Given the description of an element on the screen output the (x, y) to click on. 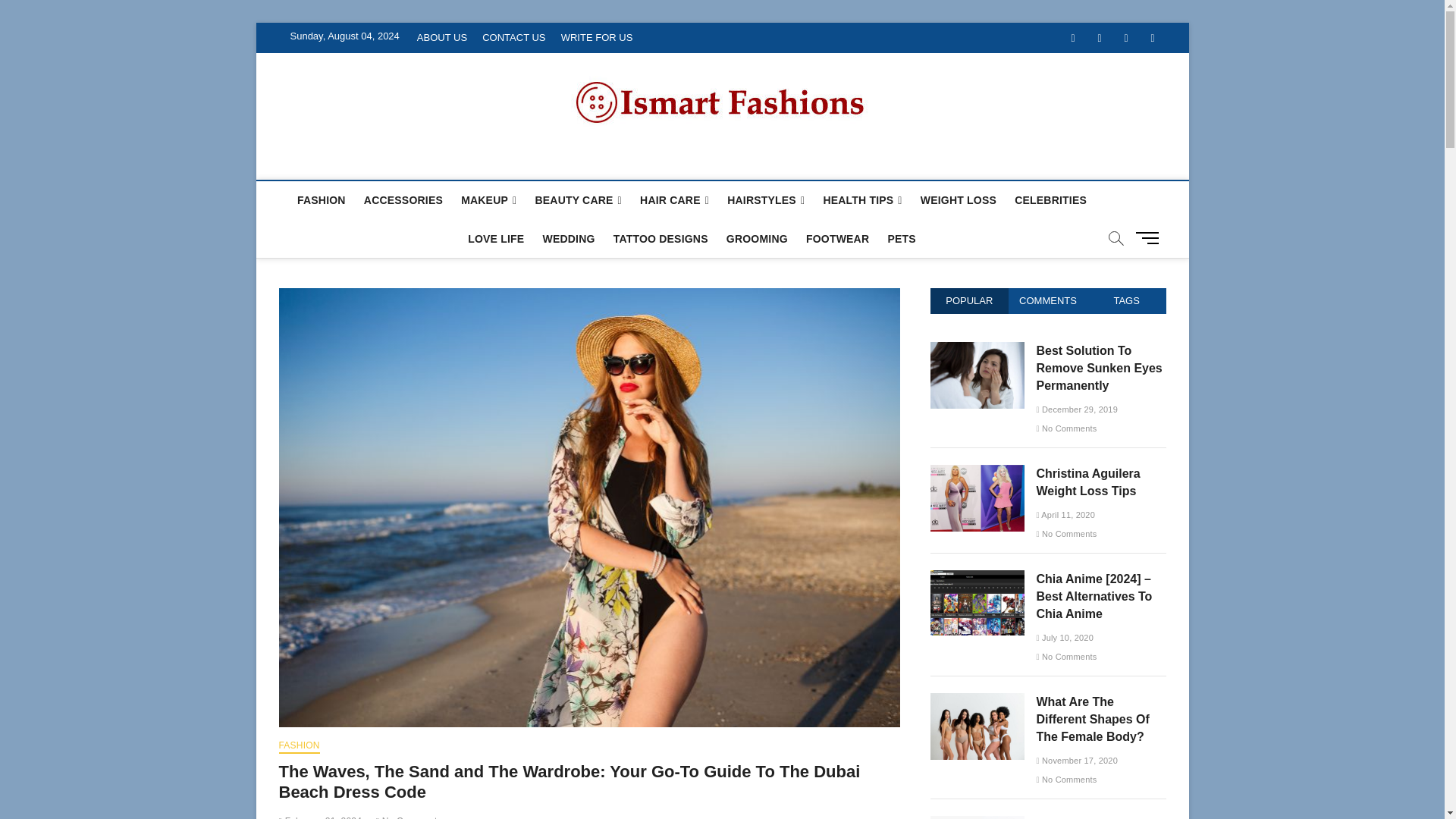
MAKEUP (488, 200)
CONTACT US (513, 37)
BEAUTY CARE (577, 200)
Linkedin (1152, 38)
Ismart Fashions (383, 162)
HAIR CARE (673, 200)
Instagram (1126, 38)
Ismart Fashions (383, 162)
HEALTH TIPS (861, 200)
WRITE FOR US (596, 37)
Facebook (1072, 38)
Twitter (1099, 38)
February 21, 2024 (320, 817)
ABOUT US (441, 37)
